Given the description of an element on the screen output the (x, y) to click on. 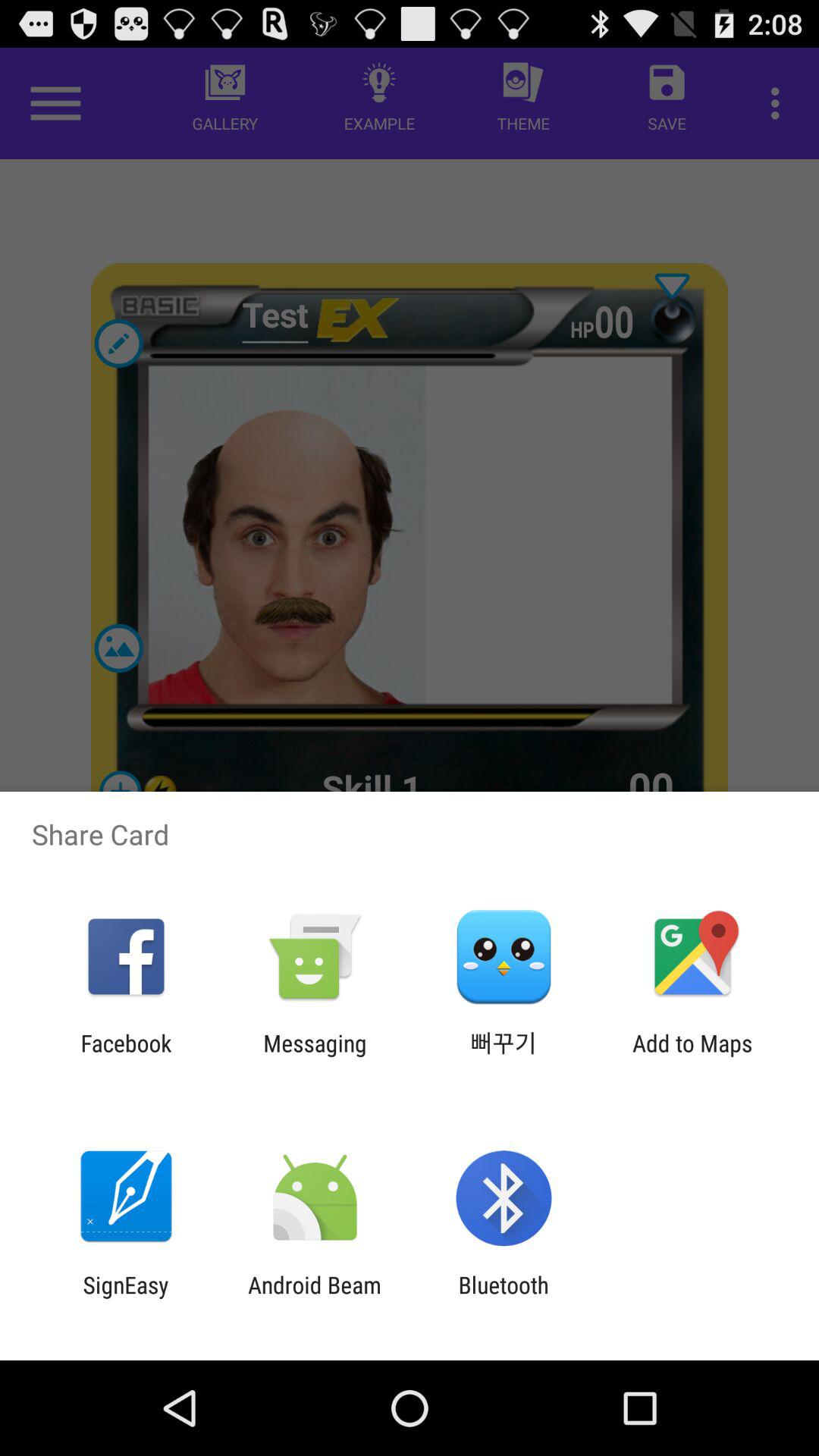
select the item next to the bluetooth (314, 1298)
